Given the description of an element on the screen output the (x, y) to click on. 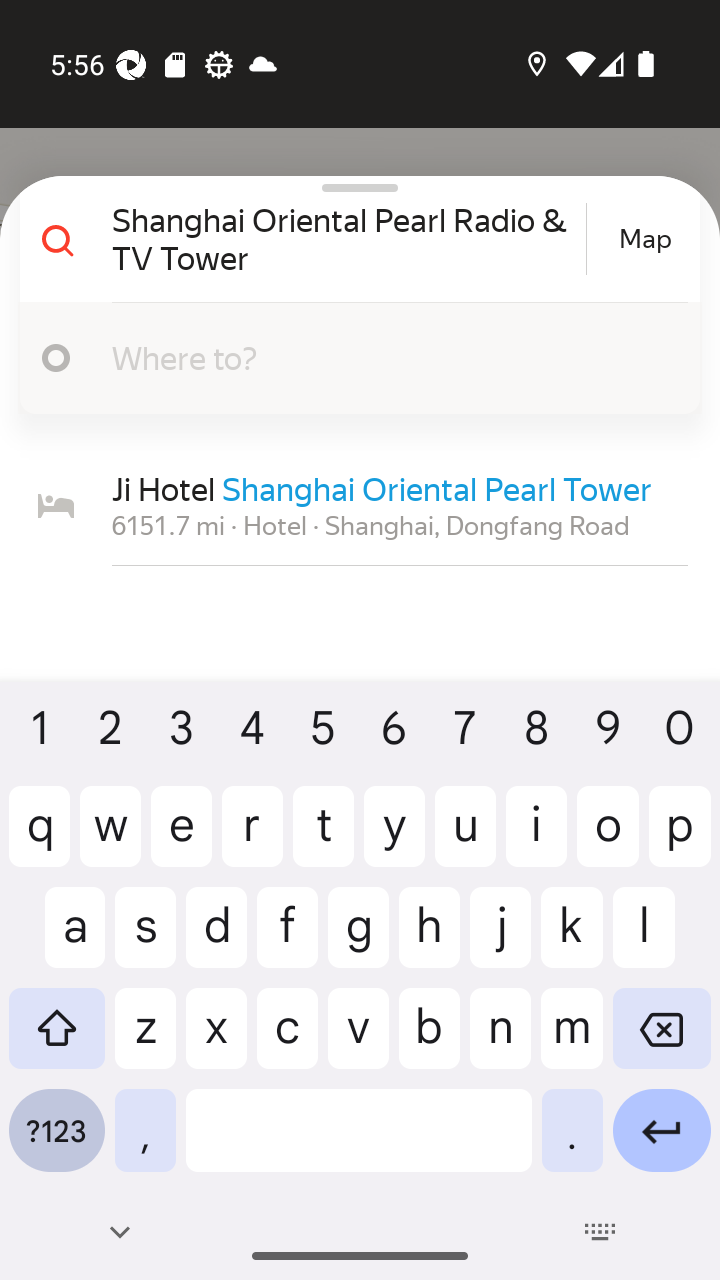
Shanghai Oriental Pearl Radio & TV Tower Map Map (352, 239)
Map (645, 239)
Shanghai Oriental Pearl Radio & TV Tower (346, 238)
Where to? (352, 357)
Where to? (373, 357)
